Given the description of an element on the screen output the (x, y) to click on. 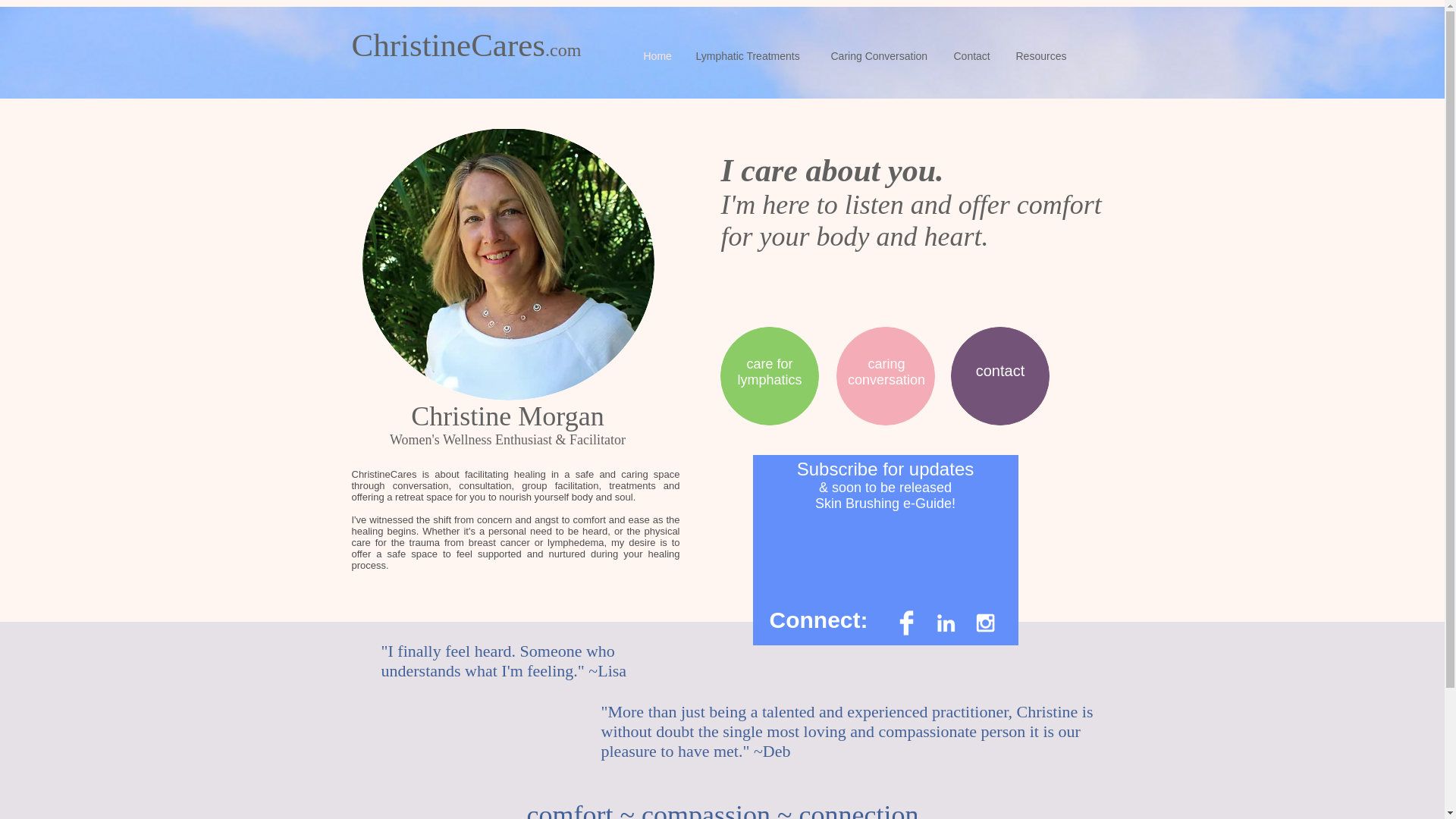
lymphatics (769, 379)
contact (1000, 370)
caring (885, 363)
Home (657, 56)
Caring Conversation (880, 56)
conversation (885, 379)
Resources (1041, 56)
care for (768, 363)
Contact (973, 56)
Lymphatic Treatments (751, 56)
ChristineCares.com (466, 45)
